Given the description of an element on the screen output the (x, y) to click on. 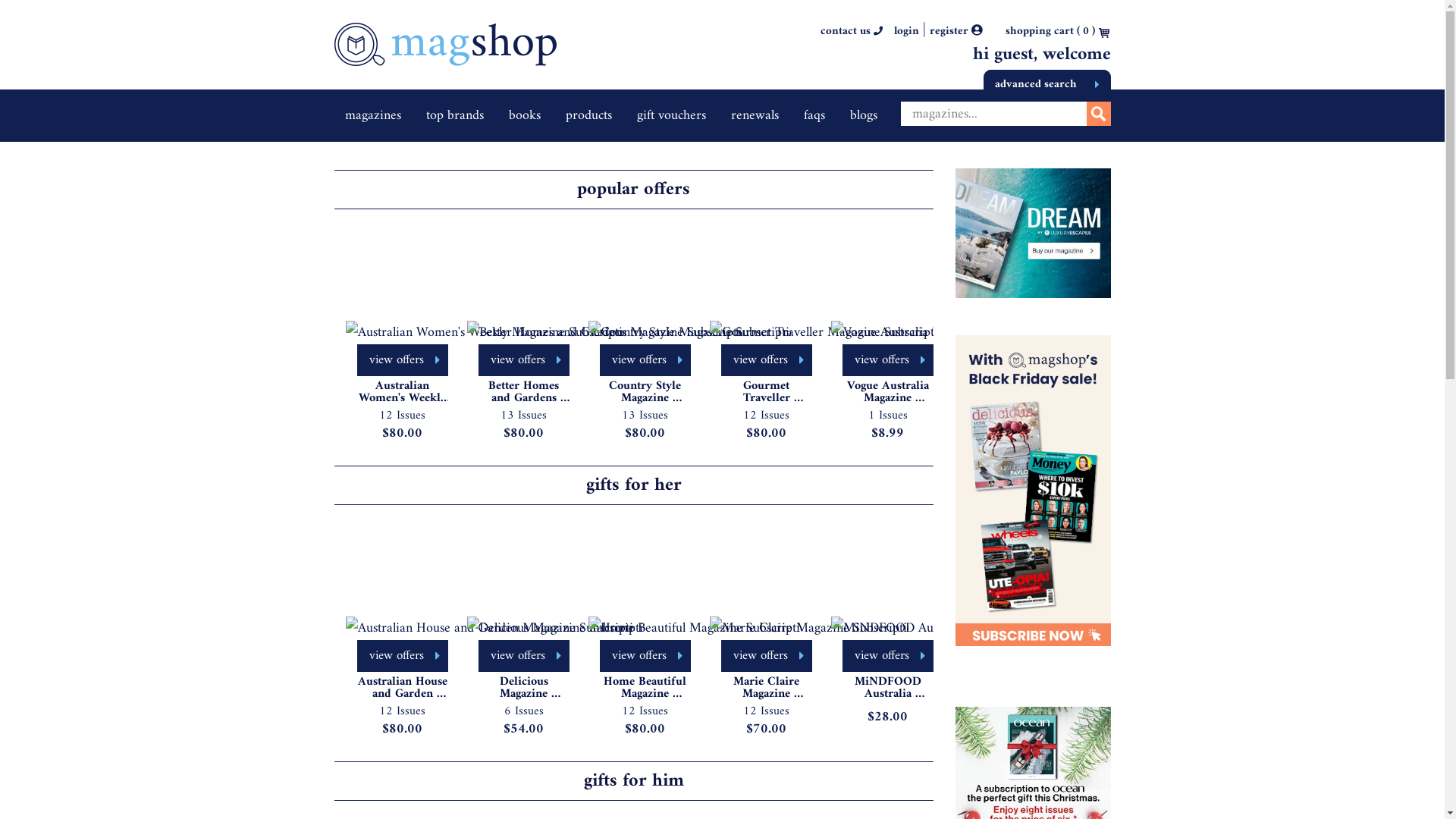
 view offers Element type: text (886, 655)
 view offers Element type: text (401, 655)
gifts for him Element type: text (633, 781)
gift vouchers Element type: text (671, 115)
Australian House and Garden Magazine Subscription Element type: text (401, 687)
magazines Element type: text (372, 115)
MiNDFOOD Australia Magazine Subscription Element type: text (886, 687)
renewals Element type: text (754, 115)
gifts for her Element type: text (632, 485)
shopping cart ( 0 ) Element type: text (1050, 31)
books Element type: text (523, 115)
faqs Element type: text (814, 115)
Vogue Australia Magazine Subscription Element type: text (886, 391)
 view offers Element type: text (765, 655)
 view offers Element type: text (522, 360)
blogs Element type: text (862, 115)
 view offers Element type: text (644, 360)
register  Element type: text (955, 31)
 view offers Element type: text (886, 360)
Delicious Magazine Subscription Element type: text (522, 687)
products Element type: text (588, 115)
Home Beautiful Magazine Subscription Element type: text (644, 687)
Home Element type: hover (444, 54)
 view offers Element type: text (765, 360)
Better Homes and Gardens Magazine Subscription Element type: text (522, 391)
 view offers Element type: text (644, 655)
Gourmet Traveller Magazine Subscription Element type: text (765, 391)
Marie Claire Magazine Subscription Element type: text (765, 687)
advanced search Element type: text (1046, 81)
popular offers Element type: text (633, 189)
contact us Element type: text (851, 31)
Country Style Magazine Subscription Element type: text (644, 391)
Australian Women's Weekly Magazine Subscription Element type: text (401, 391)
top brands Element type: text (454, 115)
 view offers Element type: text (522, 655)
 view offers Element type: text (401, 360)
login Element type: text (905, 31)
